Given the description of an element on the screen output the (x, y) to click on. 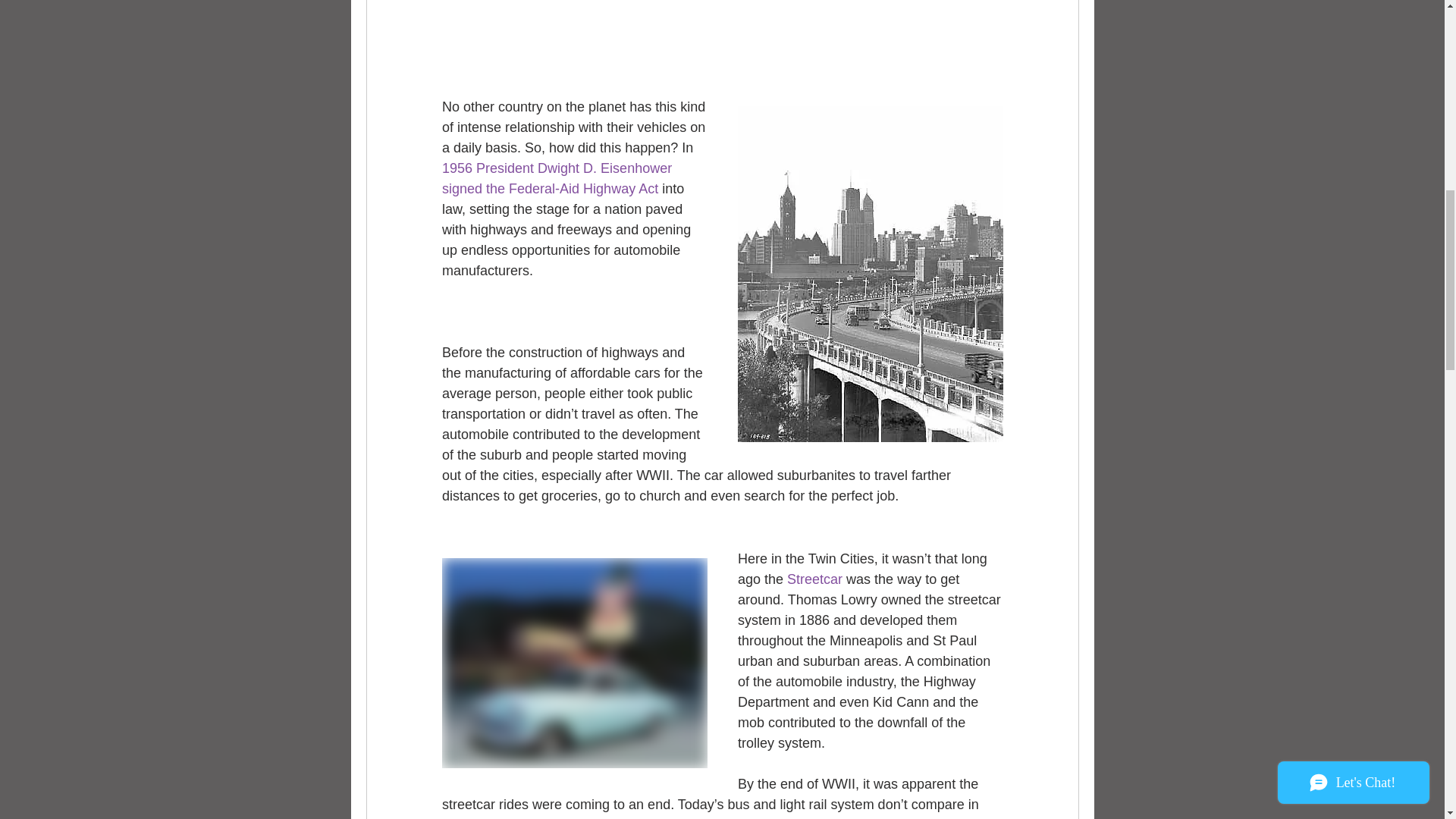
1956  (458, 168)
Streetcar (815, 579)
